Given the description of an element on the screen output the (x, y) to click on. 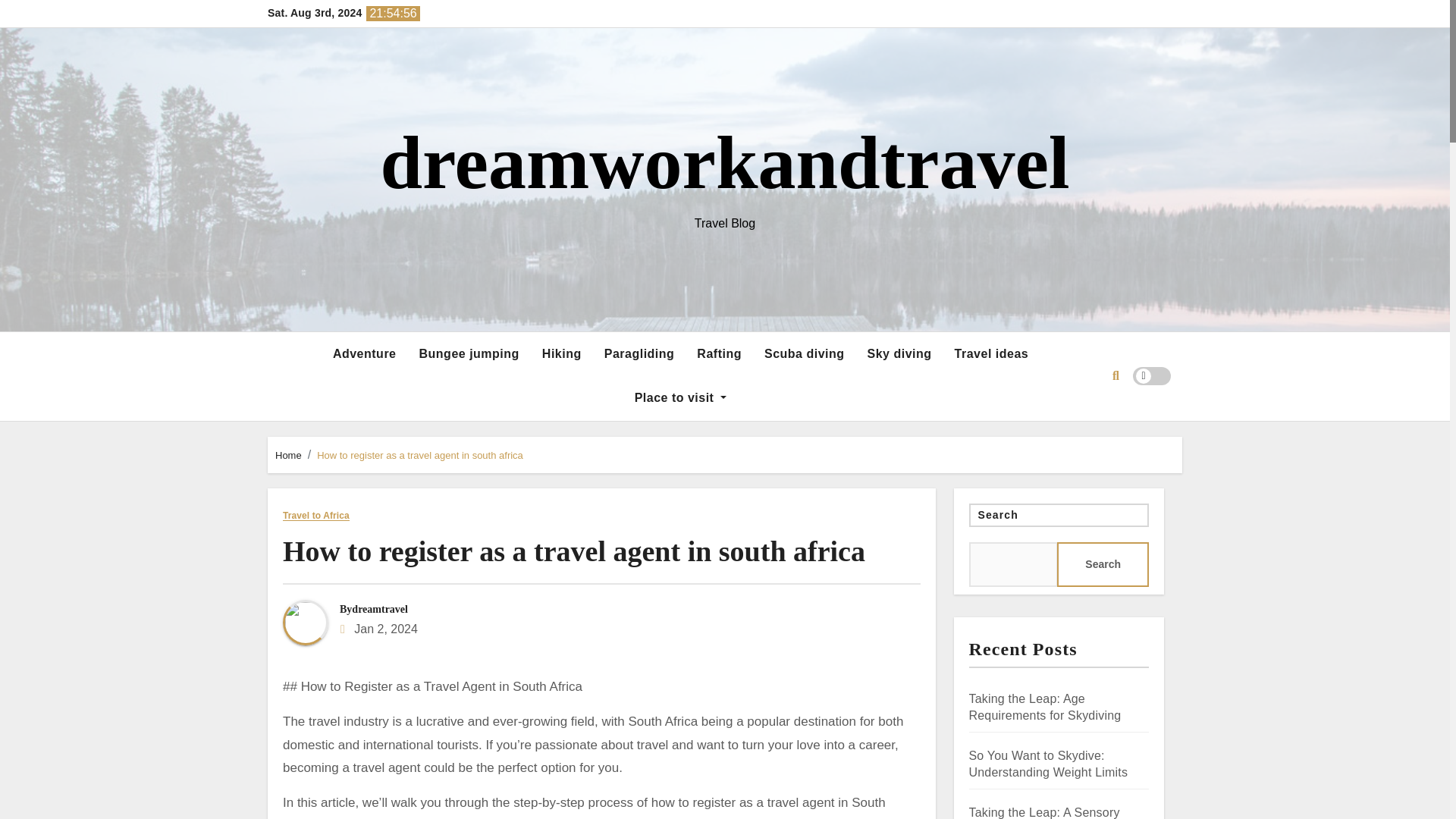
Bungee jumping (469, 353)
Place to visit (680, 397)
Rafting (718, 353)
Travel ideas (992, 353)
Scuba diving (804, 353)
Sky diving (899, 353)
Rafting (718, 353)
Bungee jumping (469, 353)
Paragliding (638, 353)
Scuba diving (804, 353)
